Given the description of an element on the screen output the (x, y) to click on. 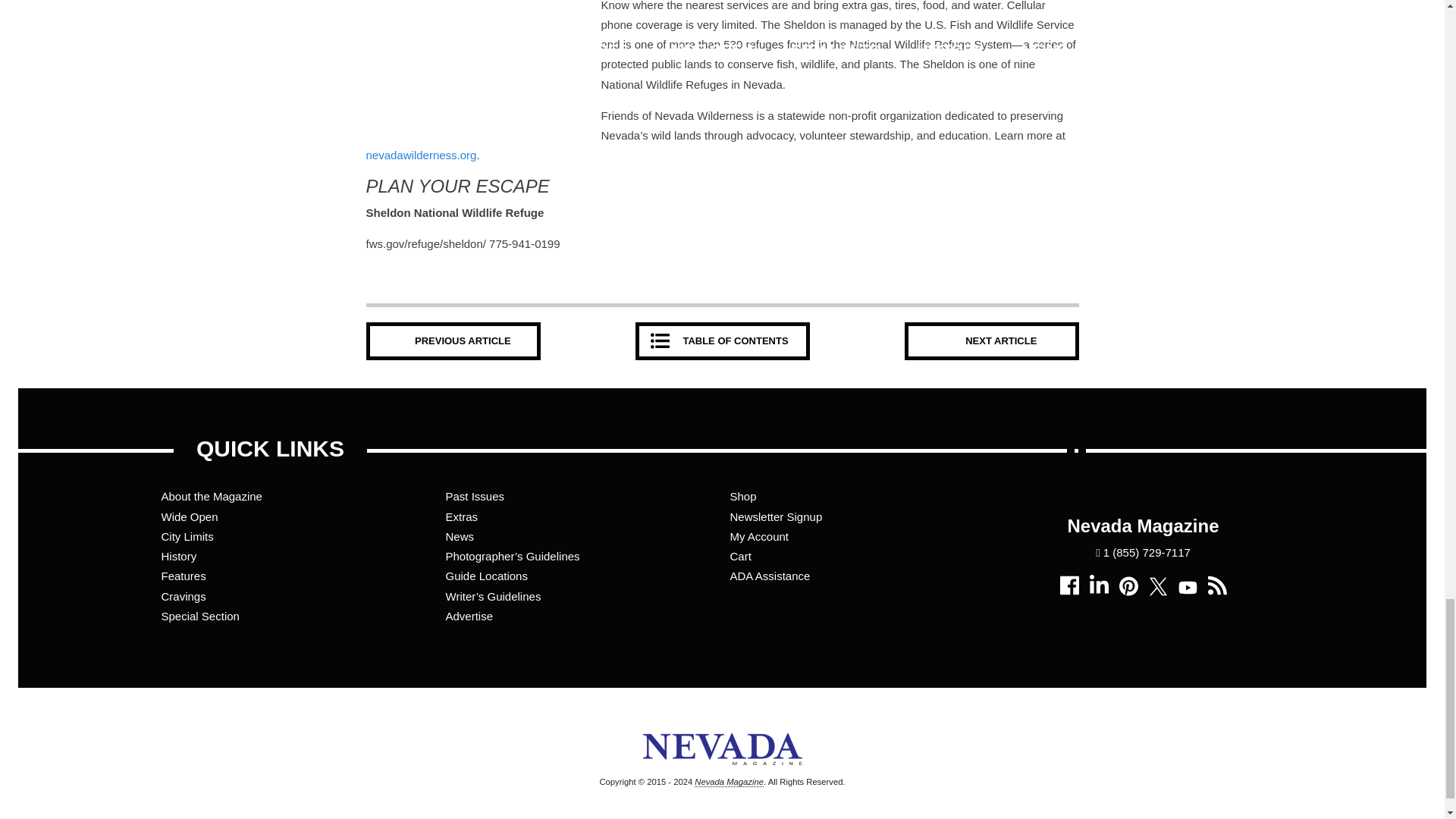
Nevada Magazine (728, 782)
Nevada Magazine (722, 773)
nevadawilderness.org (420, 154)
